Given the description of an element on the screen output the (x, y) to click on. 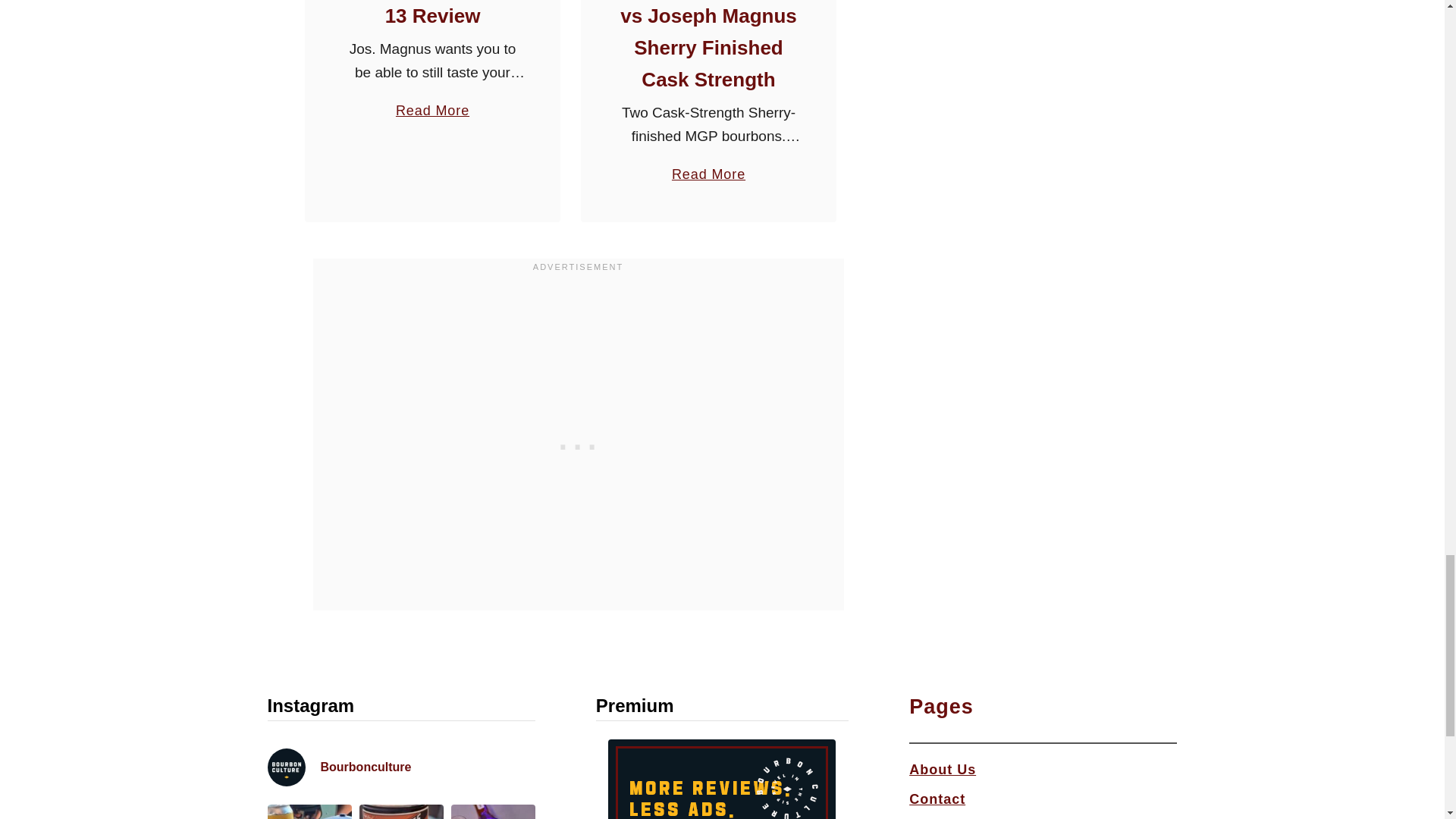
Joseph Magnus Cigar Blend Batch 13 Review (432, 103)
